Given the description of an element on the screen output the (x, y) to click on. 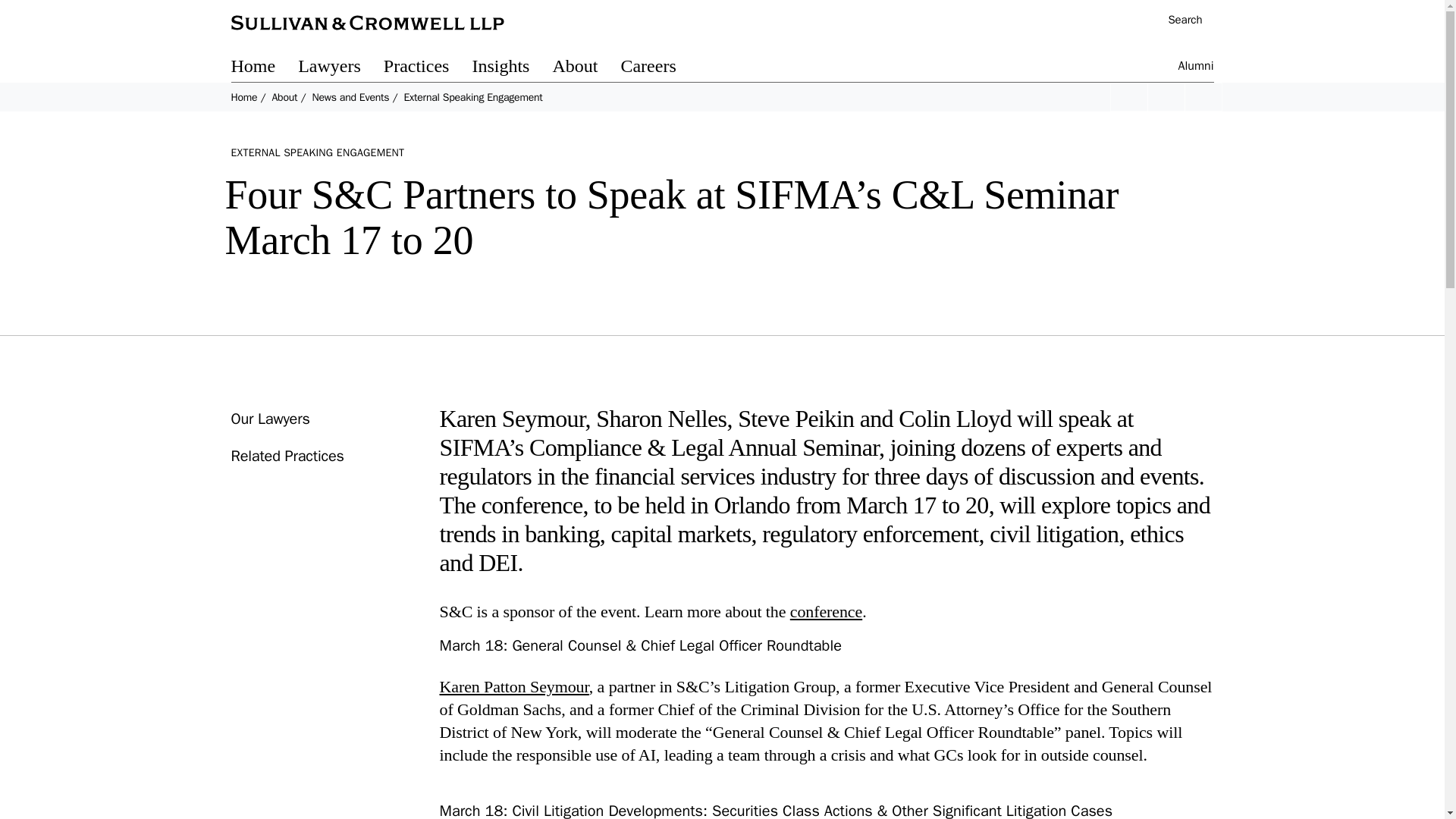
Alumni (1195, 67)
Karen Patton Seymour (514, 686)
Home (243, 97)
Home (264, 67)
News and Events (349, 97)
Karen Patton Seymour (514, 686)
About (585, 67)
About (283, 97)
Our Lawyers (269, 418)
Careers (659, 67)
Lawyers (341, 67)
Insights (511, 67)
conference (825, 610)
Related Practices (286, 456)
Search (1176, 20)
